Given the description of an element on the screen output the (x, y) to click on. 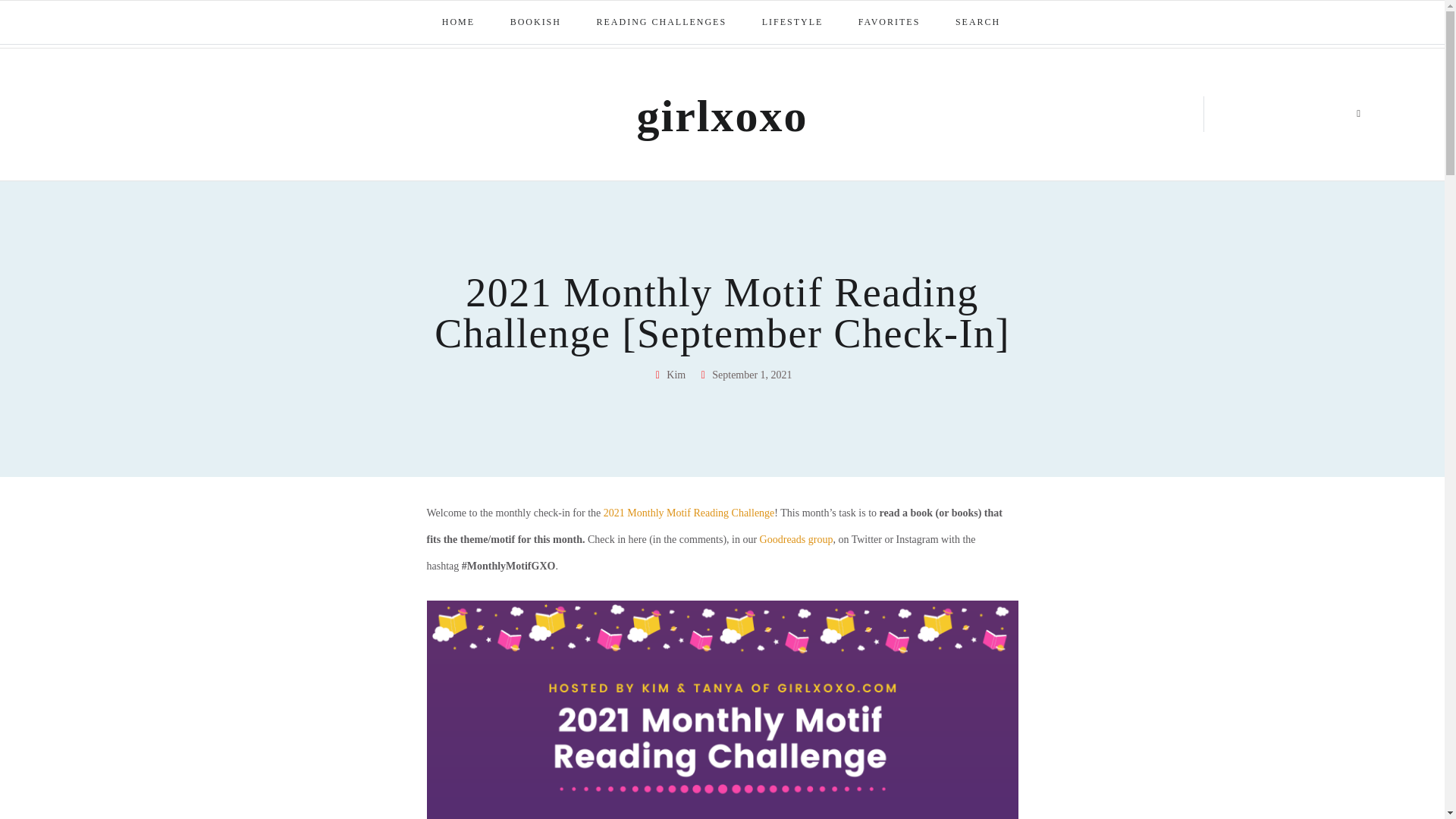
September 1, 2021 (744, 375)
BOOKISH (536, 22)
LIFESTYLE (793, 22)
Goodreads group (796, 539)
HOME (459, 22)
2021 Monthly Motif Reading Challenge (689, 512)
girlxoxo (722, 115)
READING CHALLENGES (662, 22)
Kim (668, 375)
SEARCH (978, 22)
